Given the description of an element on the screen output the (x, y) to click on. 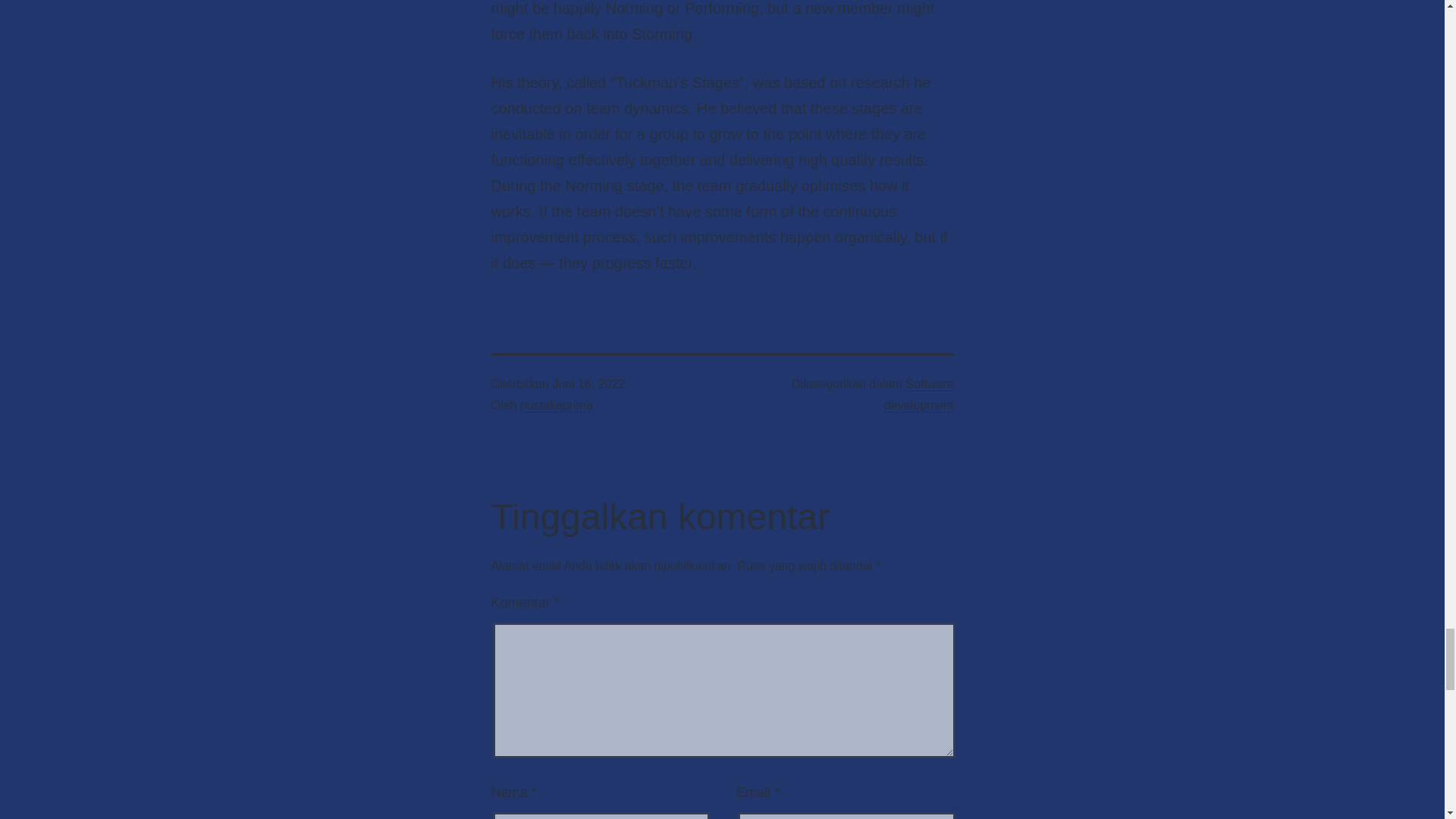
pustakaprima (555, 404)
Software development (918, 394)
